Given the description of an element on the screen output the (x, y) to click on. 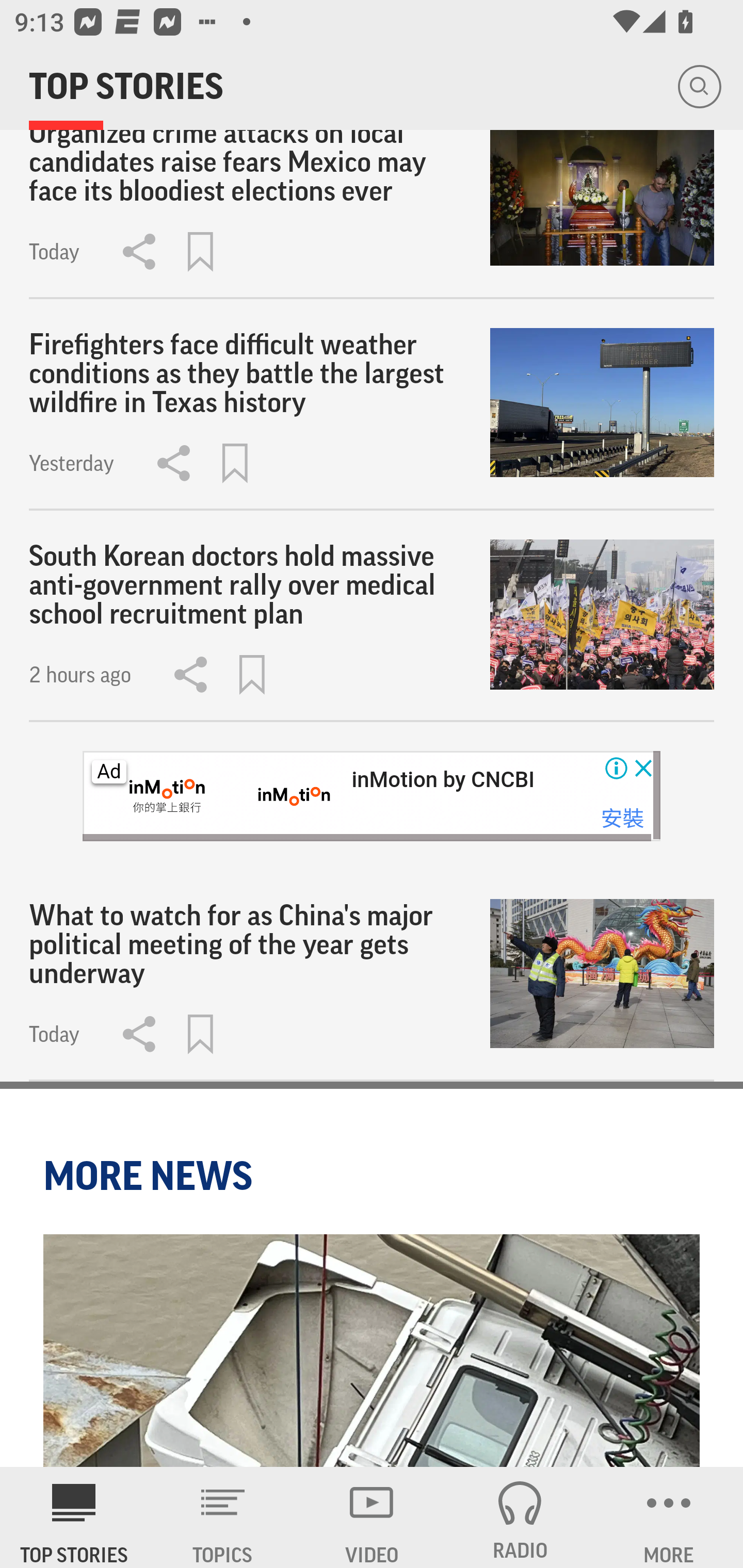
inMotion by CNCBI (442, 779)
安裝 (621, 818)
MORE NEWS (151, 1175)
AP News TOP STORIES (74, 1517)
TOPICS (222, 1517)
VIDEO (371, 1517)
RADIO (519, 1517)
MORE (668, 1517)
